Given the description of an element on the screen output the (x, y) to click on. 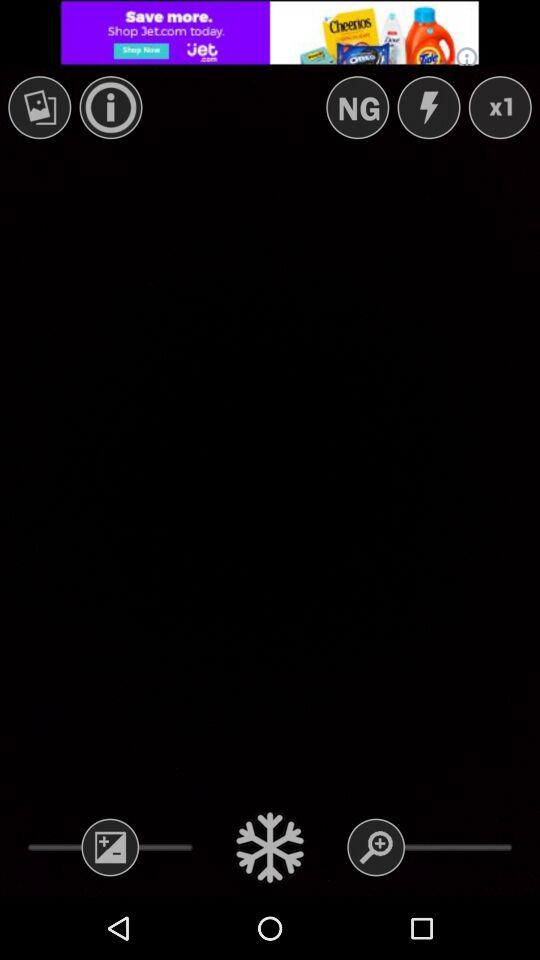
snowflake icon (269, 847)
